Given the description of an element on the screen output the (x, y) to click on. 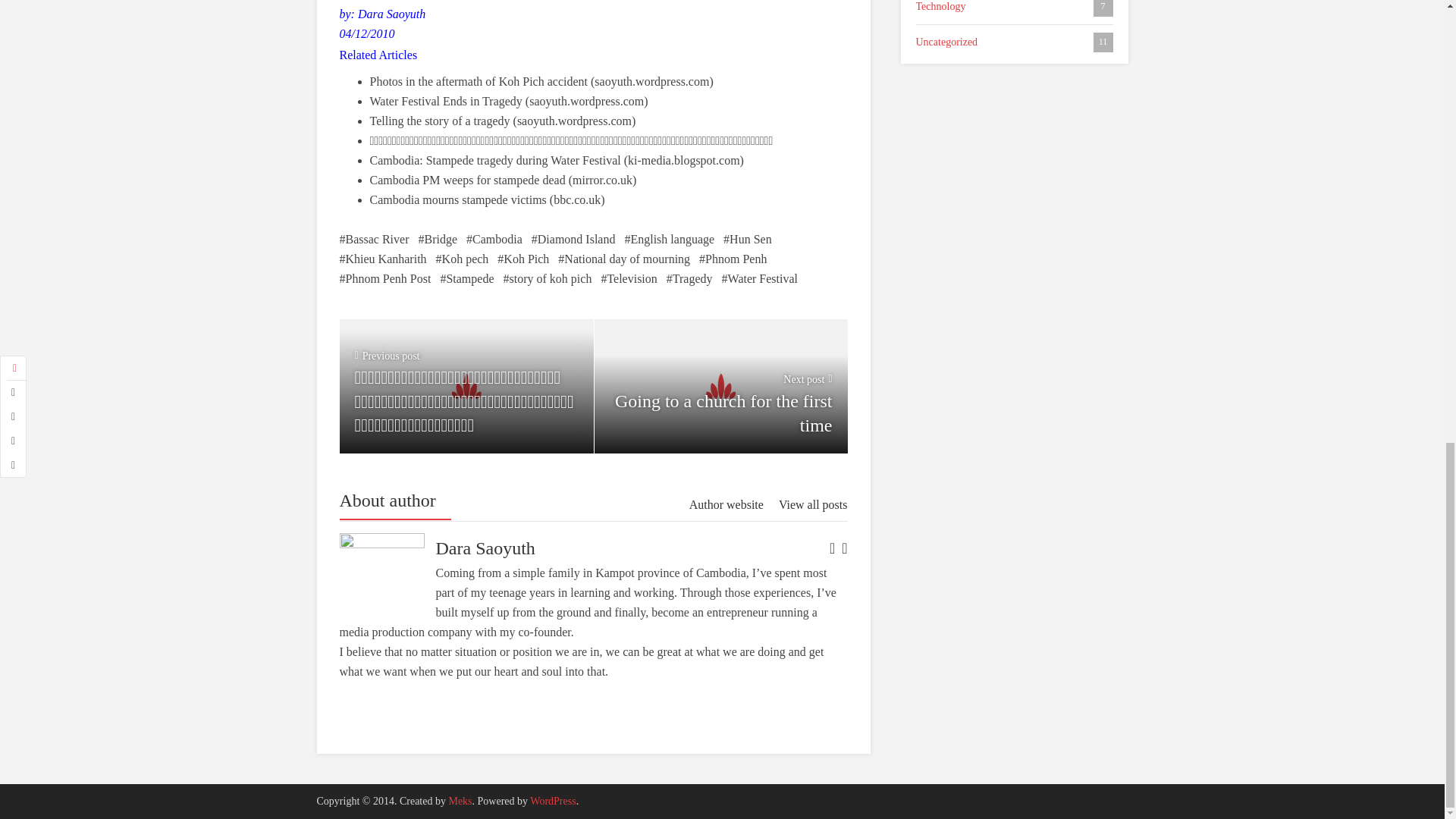
Water Festival (759, 279)
Stampede (466, 279)
Cambodia (493, 239)
Photos in the aftermath of Koh Pich accident (478, 81)
Water Festival Ends in Tragedy (445, 101)
Photos in the aftermath of Koh Pich accident (478, 81)
Author website (725, 505)
Phnom Penh Post (384, 279)
Cambodia PM weeps for stampede dead (467, 179)
Tragedy (689, 279)
